Given the description of an element on the screen output the (x, y) to click on. 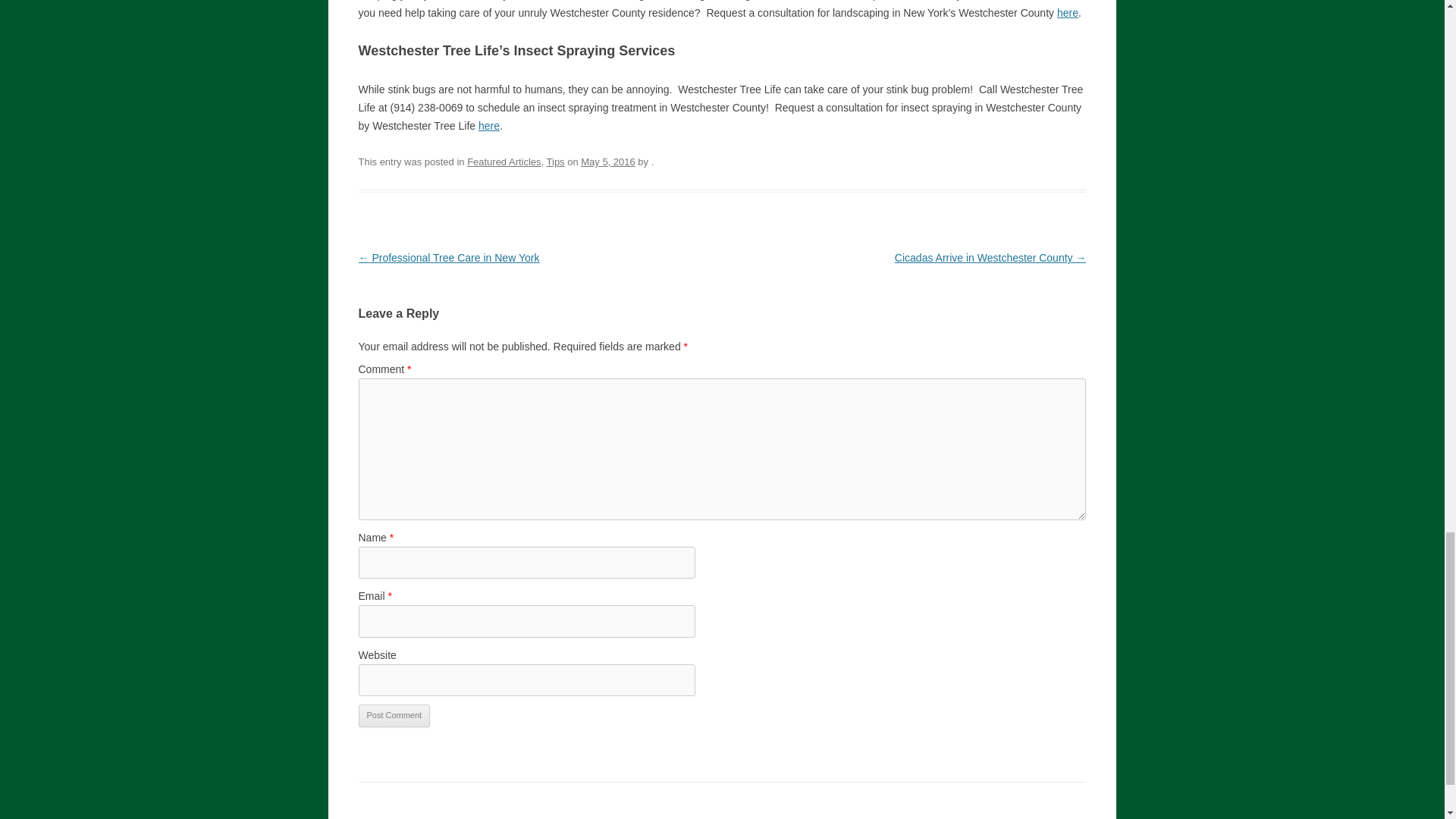
Post Comment (393, 715)
here (489, 125)
9:00 AM (607, 161)
Featured Articles (503, 161)
here (1067, 12)
Tips (555, 161)
May 5, 2016 (607, 161)
Post Comment (393, 715)
